Given the description of an element on the screen output the (x, y) to click on. 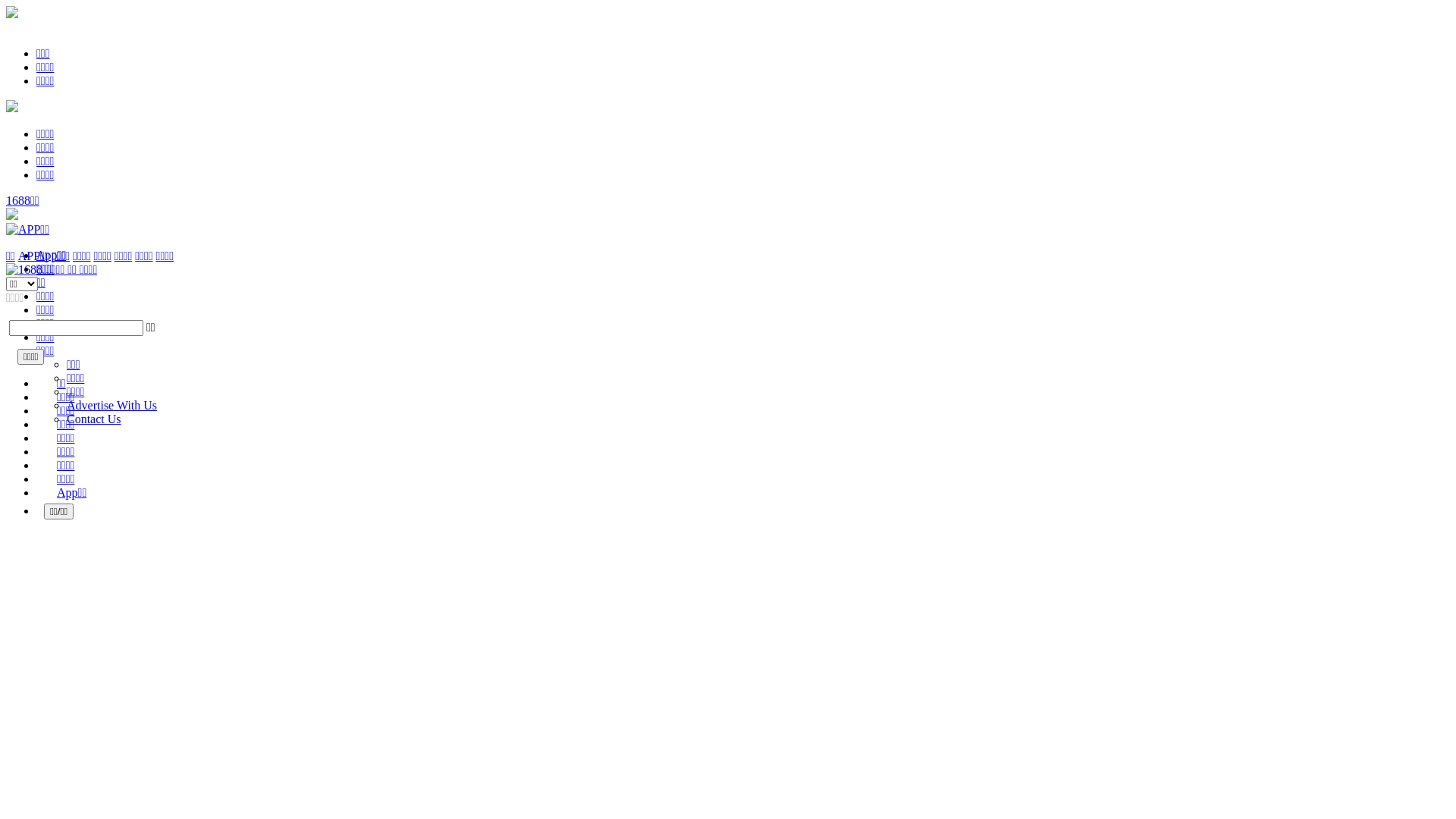
Australia Daily Element type: hover (51, 269)
Contact Us Element type: text (93, 418)
Advertise With Us Element type: text (111, 404)
